Given the description of an element on the screen output the (x, y) to click on. 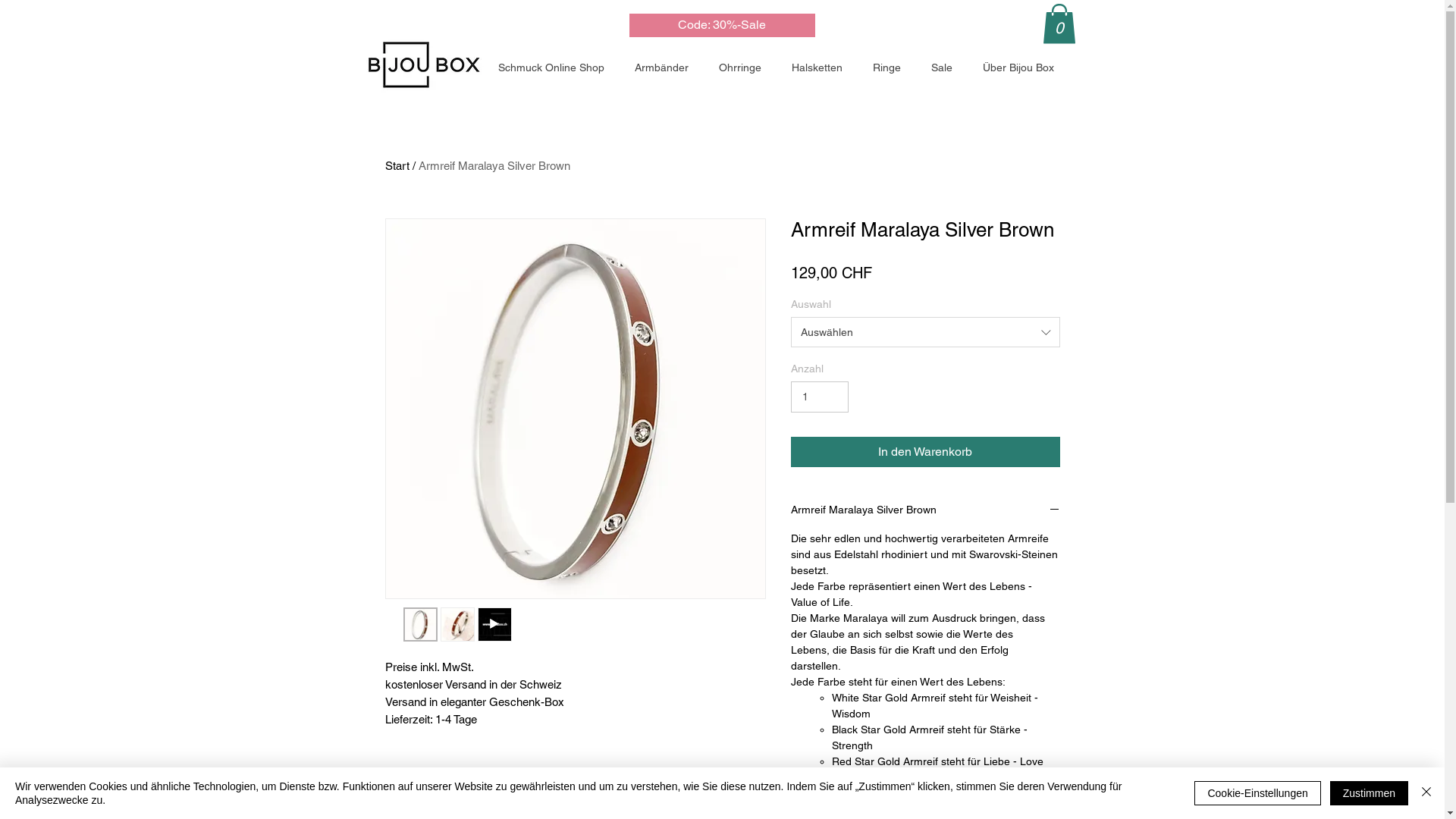
0 Element type: text (1058, 23)
Zustimmen Element type: text (1369, 793)
Ohrringe Element type: text (742, 67)
Code: 30%-Sale Element type: text (722, 25)
Site Search Element type: hover (962, 26)
Ringe Element type: text (890, 67)
Schmuck Online Shop Element type: text (554, 67)
Armreif Maralaya Silver Brown Element type: text (494, 165)
Start Element type: text (397, 165)
In den Warenkorb Element type: text (924, 451)
Halsketten Element type: text (819, 67)
Cookie-Einstellungen Element type: text (1257, 793)
Sale Element type: text (944, 67)
Bijou Box Start Element type: text (434, 67)
Armreif Maralaya Silver Brown Element type: text (924, 510)
